Given the description of an element on the screen output the (x, y) to click on. 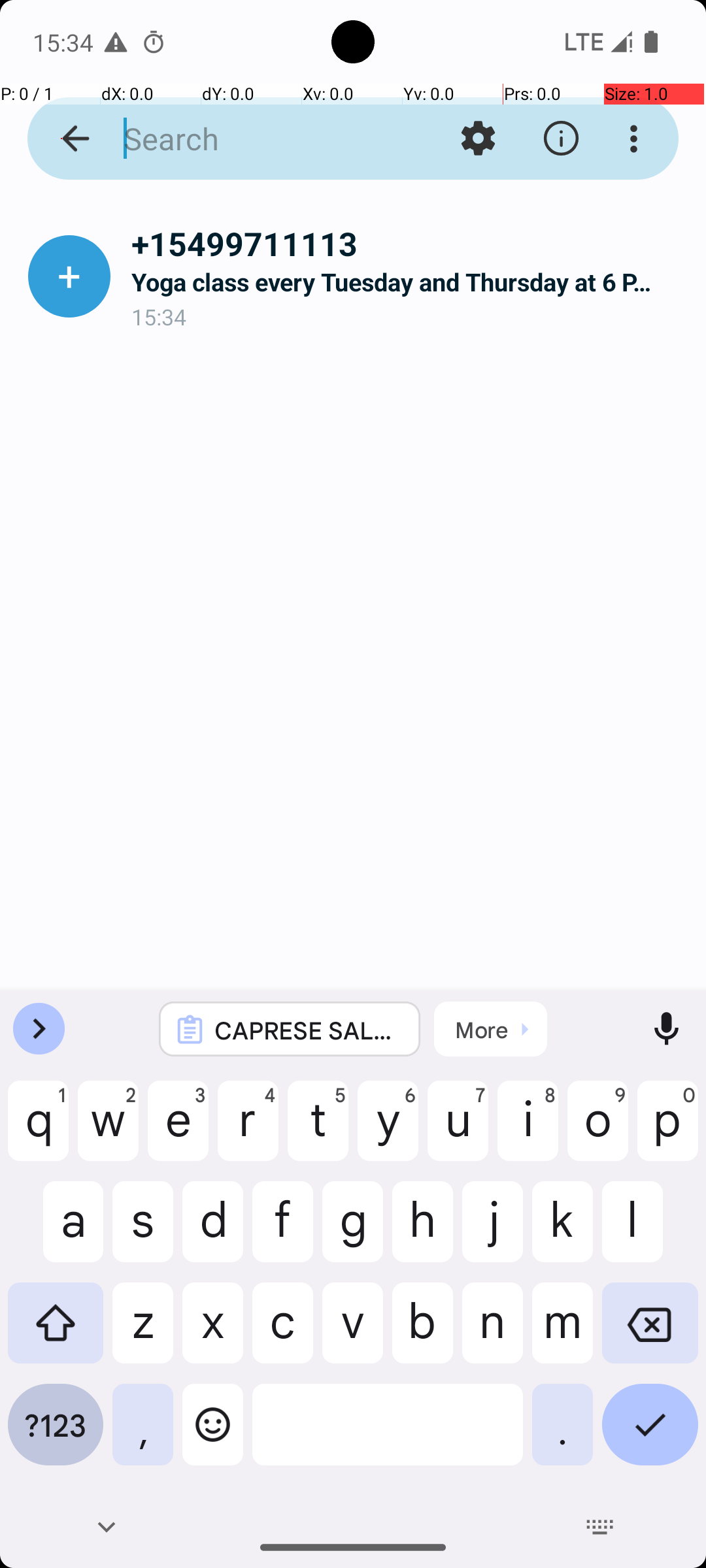
+15499711113 Element type: android.widget.TextView (408, 242)
Yoga class every Tuesday and Thursday at 6 PM. Element type: android.widget.TextView (408, 281)
CAPRESE SALAD SKEWERS  Servings: 1 serving Time: 45 mins  A quick and easy meal, perfect for busy weekdays.  Ingredients: - n/a  Directions: 1. Thread cherry tomatoes, basil leaves, and mozzarella balls onto skewers. Drizzle with balsamic glaze. Feel free to substitute with ingredients you have on hand.  Shared with https://play.google.com/store/apps/details?id=com.flauschcode.broccoli Element type: android.widget.TextView (306, 1029)
